Given the description of an element on the screen output the (x, y) to click on. 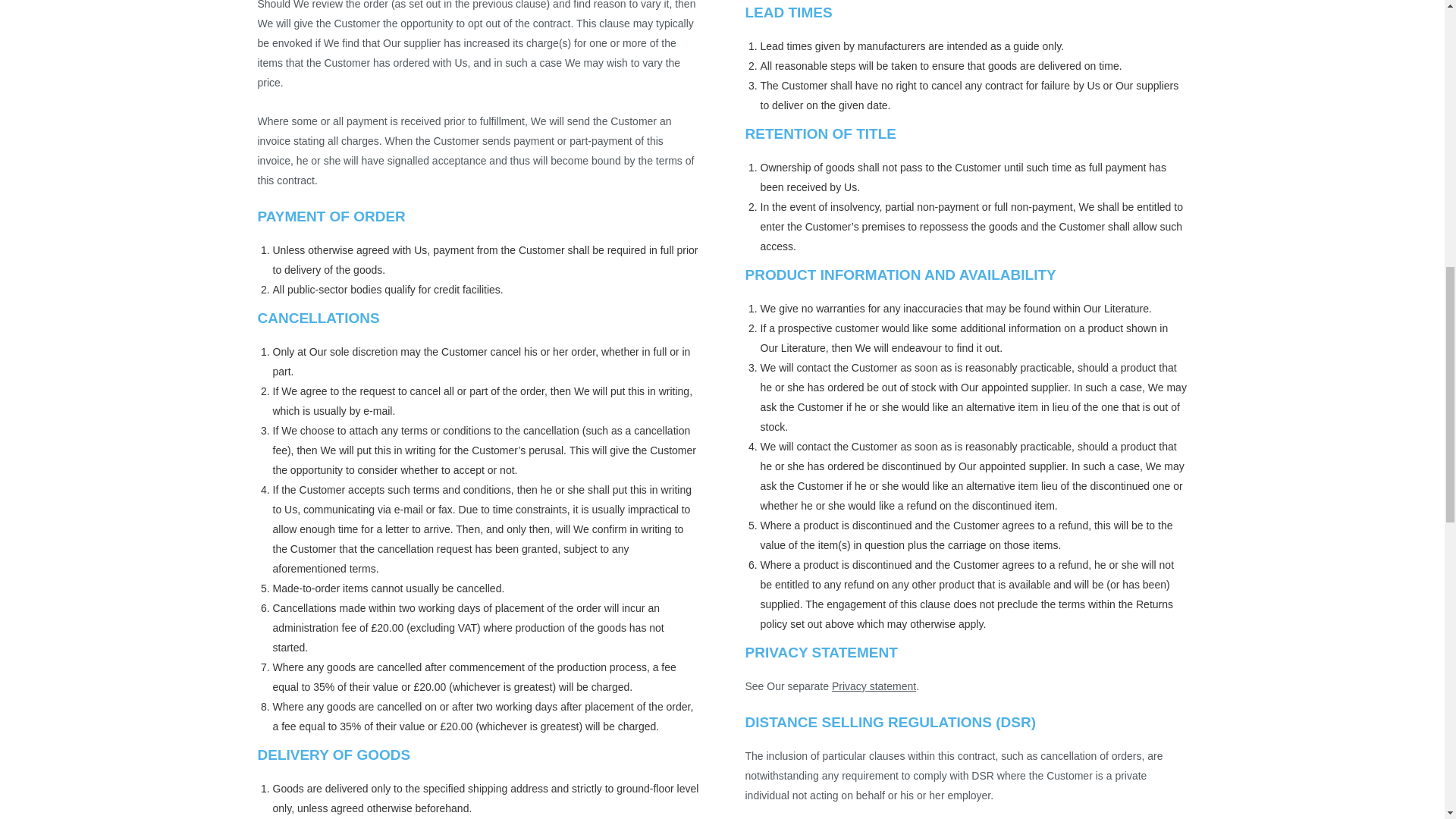
Privacy statement (873, 686)
